Given the description of an element on the screen output the (x, y) to click on. 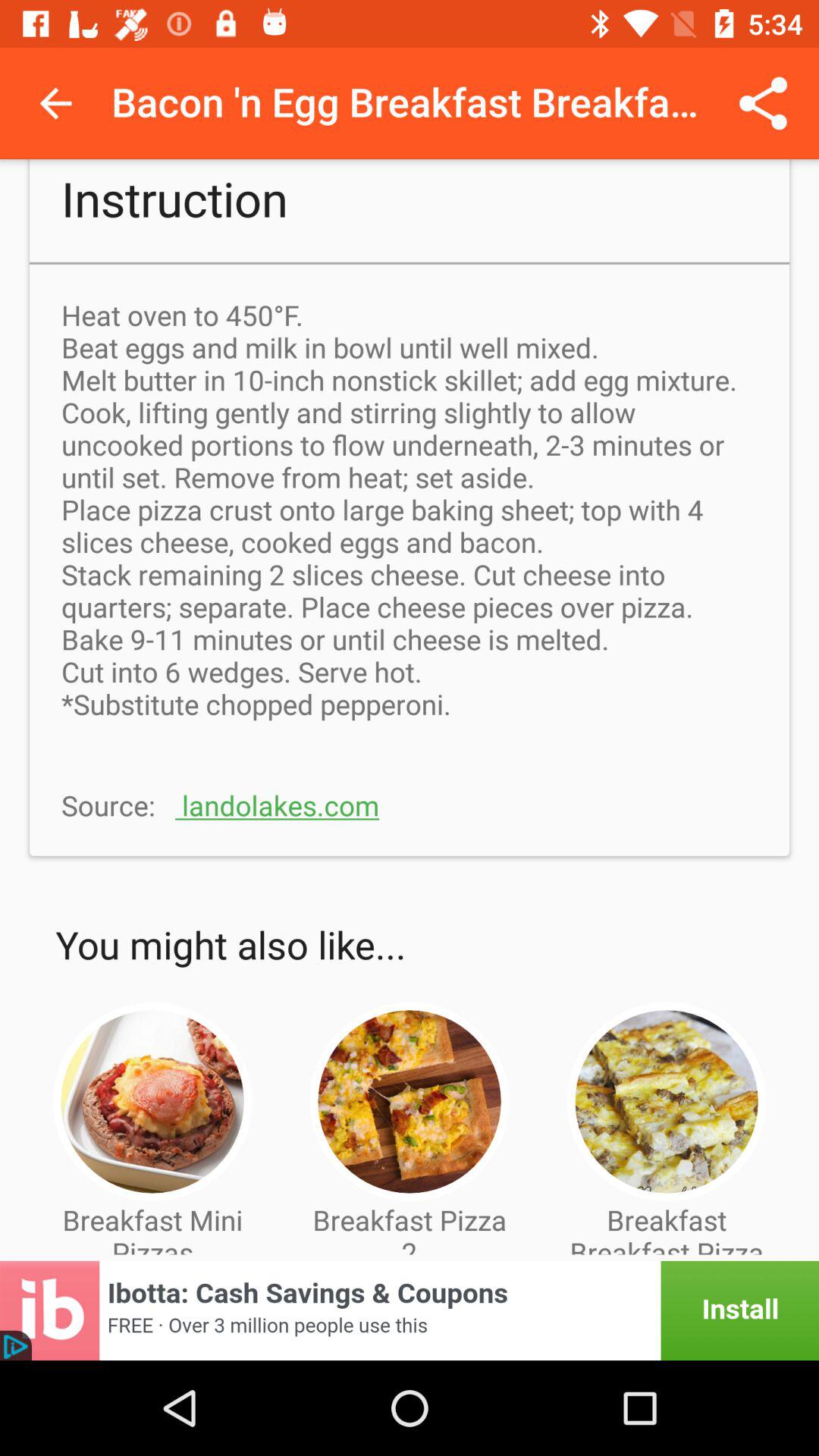
visit advertiser (409, 1310)
